Given the description of an element on the screen output the (x, y) to click on. 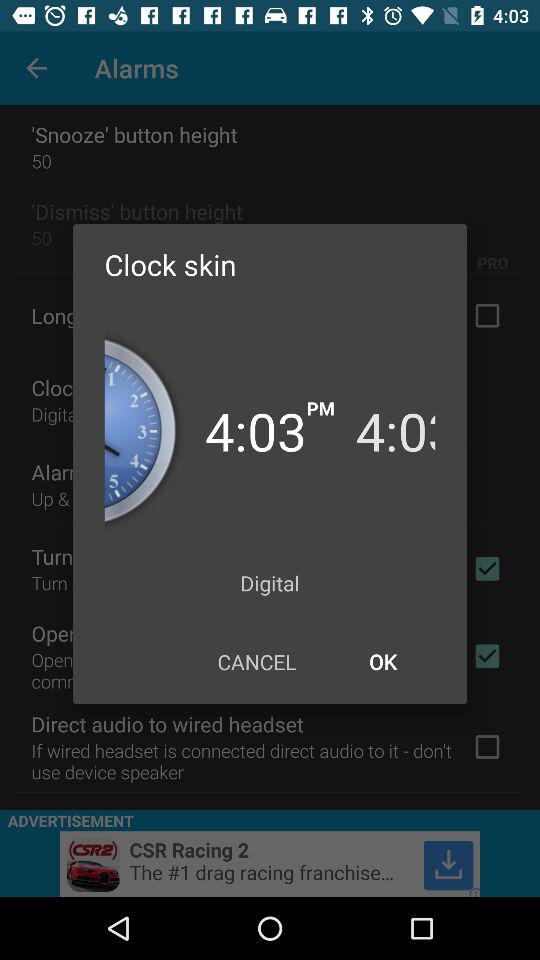
choose cancel (256, 661)
